Given the description of an element on the screen output the (x, y) to click on. 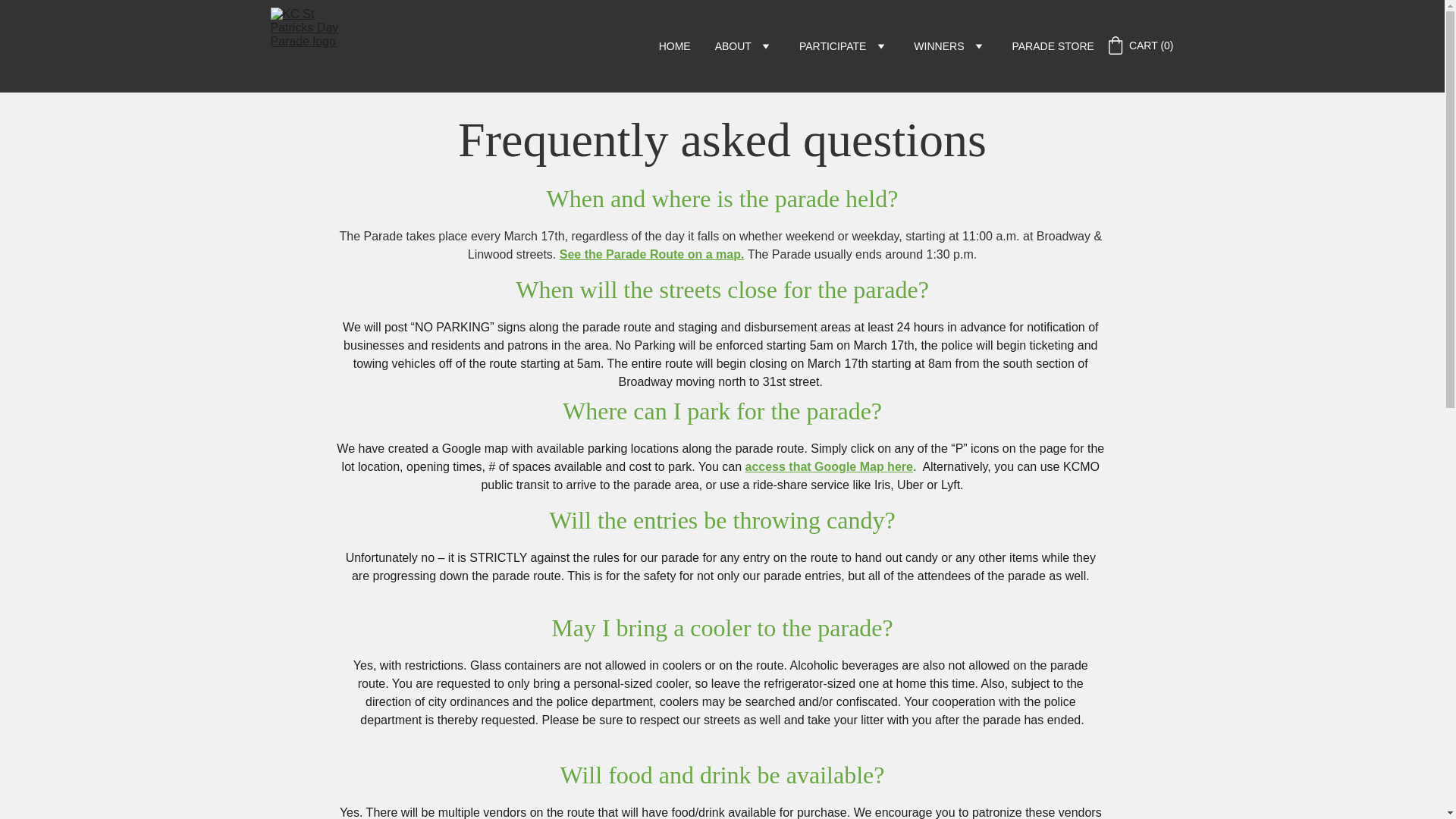
Go to cart (1139, 44)
PARADE STORE (1052, 46)
HOME (674, 46)
ABOUT (732, 46)
